Given the description of an element on the screen output the (x, y) to click on. 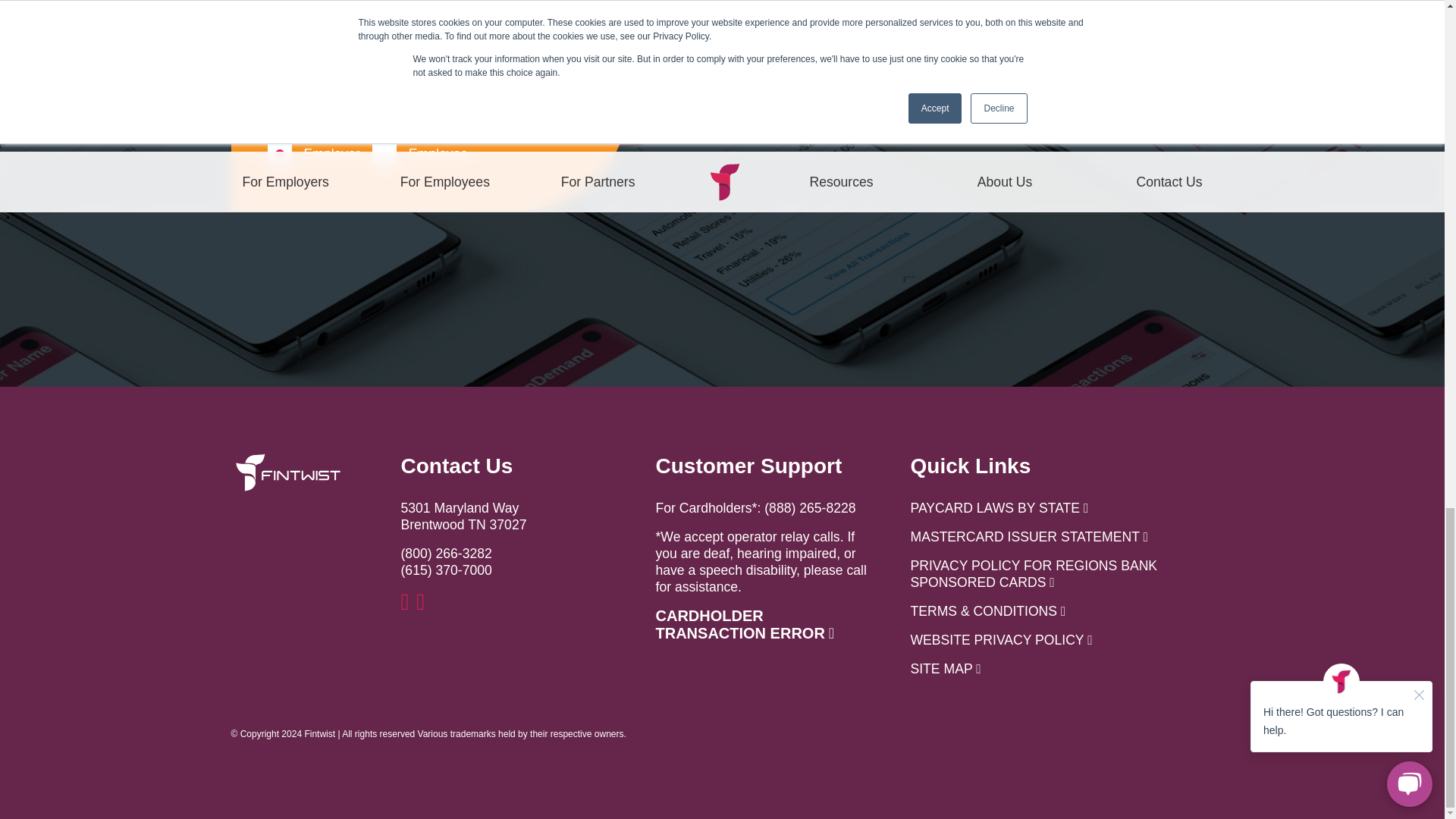
employer (278, 153)
employee (384, 153)
